Given the description of an element on the screen output the (x, y) to click on. 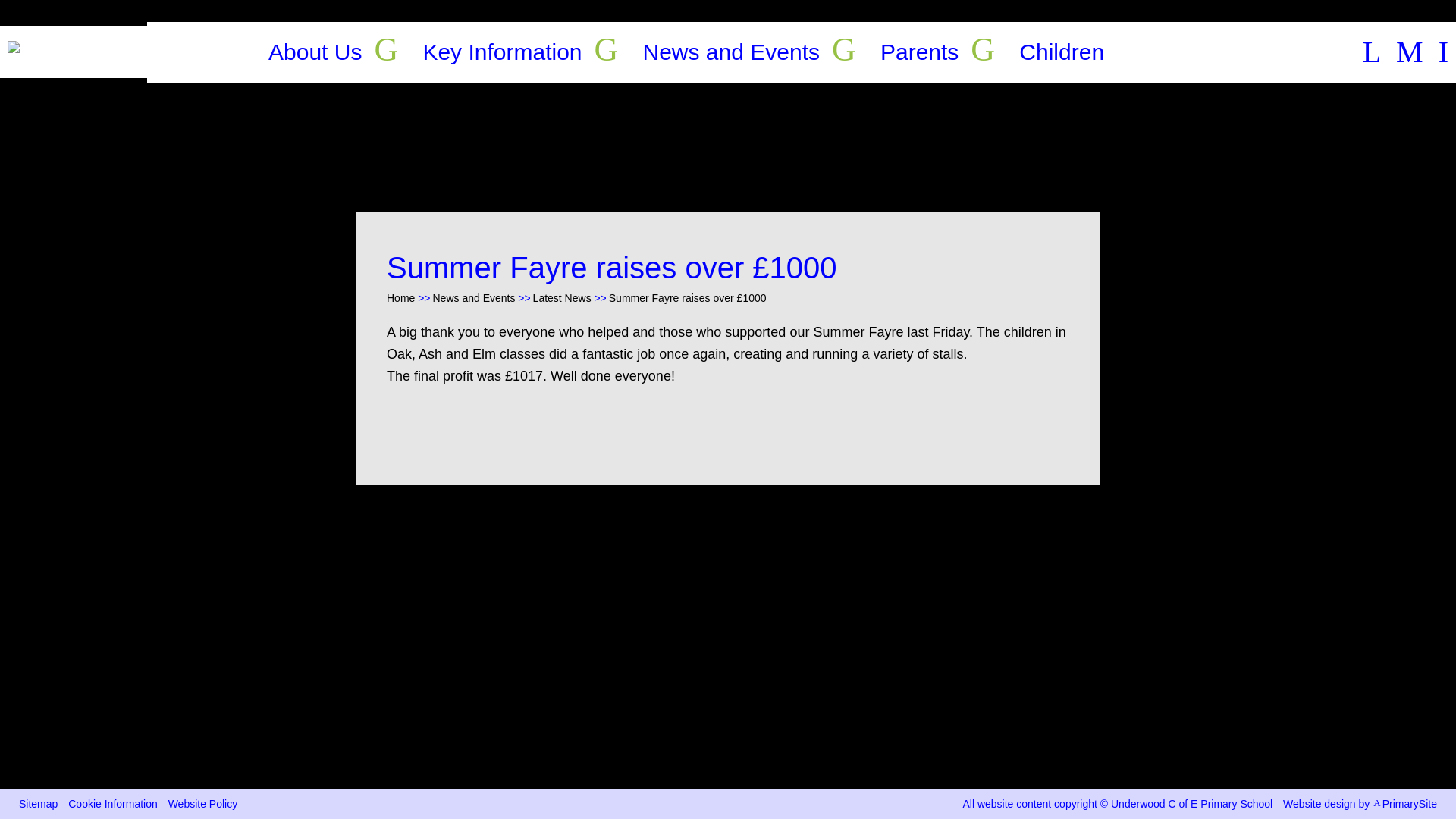
Home Page (73, 51)
About Us (314, 52)
Key Information (501, 52)
